Given the description of an element on the screen output the (x, y) to click on. 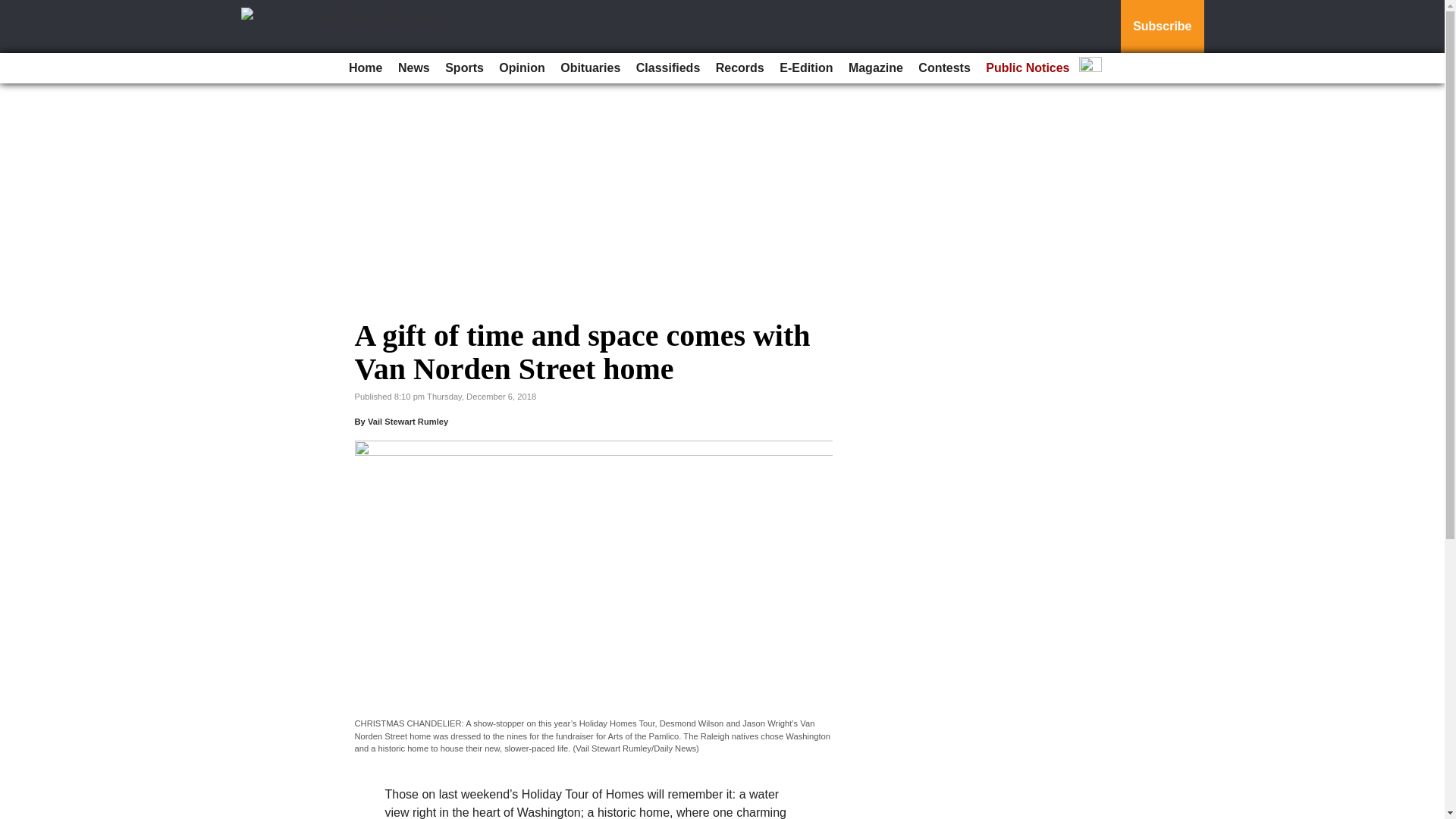
Subscribe (1162, 26)
Classifieds (668, 68)
Opinion (521, 68)
Contests (943, 68)
Sports (464, 68)
Home (365, 68)
Vail Stewart Rumley (408, 420)
Magazine (875, 68)
E-Edition (805, 68)
Obituaries (590, 68)
